Given the description of an element on the screen output the (x, y) to click on. 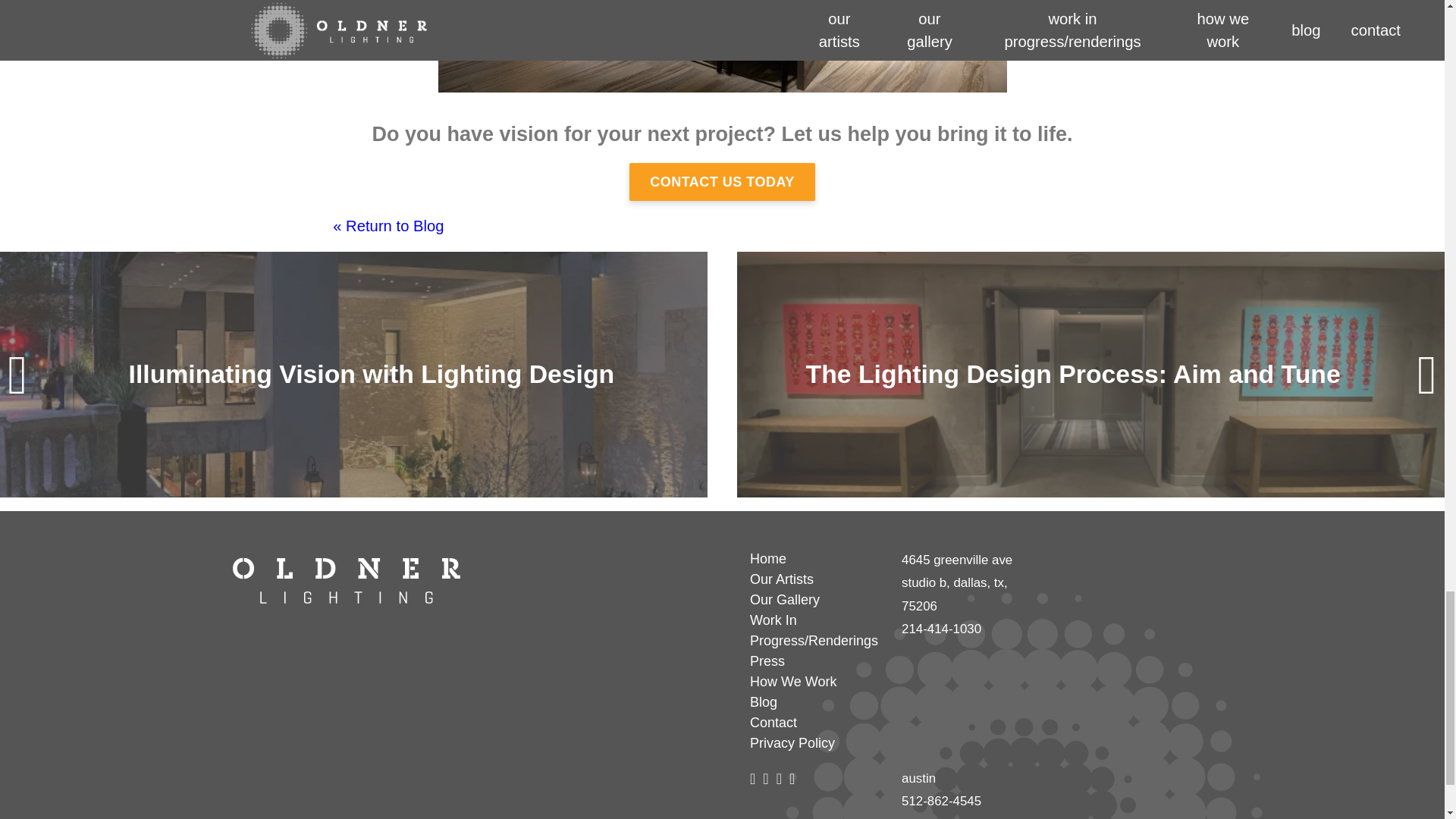
Our Artists (815, 579)
CONTACT US TODAY (721, 181)
Contact (815, 722)
Blog (815, 702)
Home (815, 558)
Privacy Policy (815, 743)
Press (815, 661)
How We Work (815, 681)
CONTACT US TODAY (721, 180)
Our Gallery (815, 599)
